Given the description of an element on the screen output the (x, y) to click on. 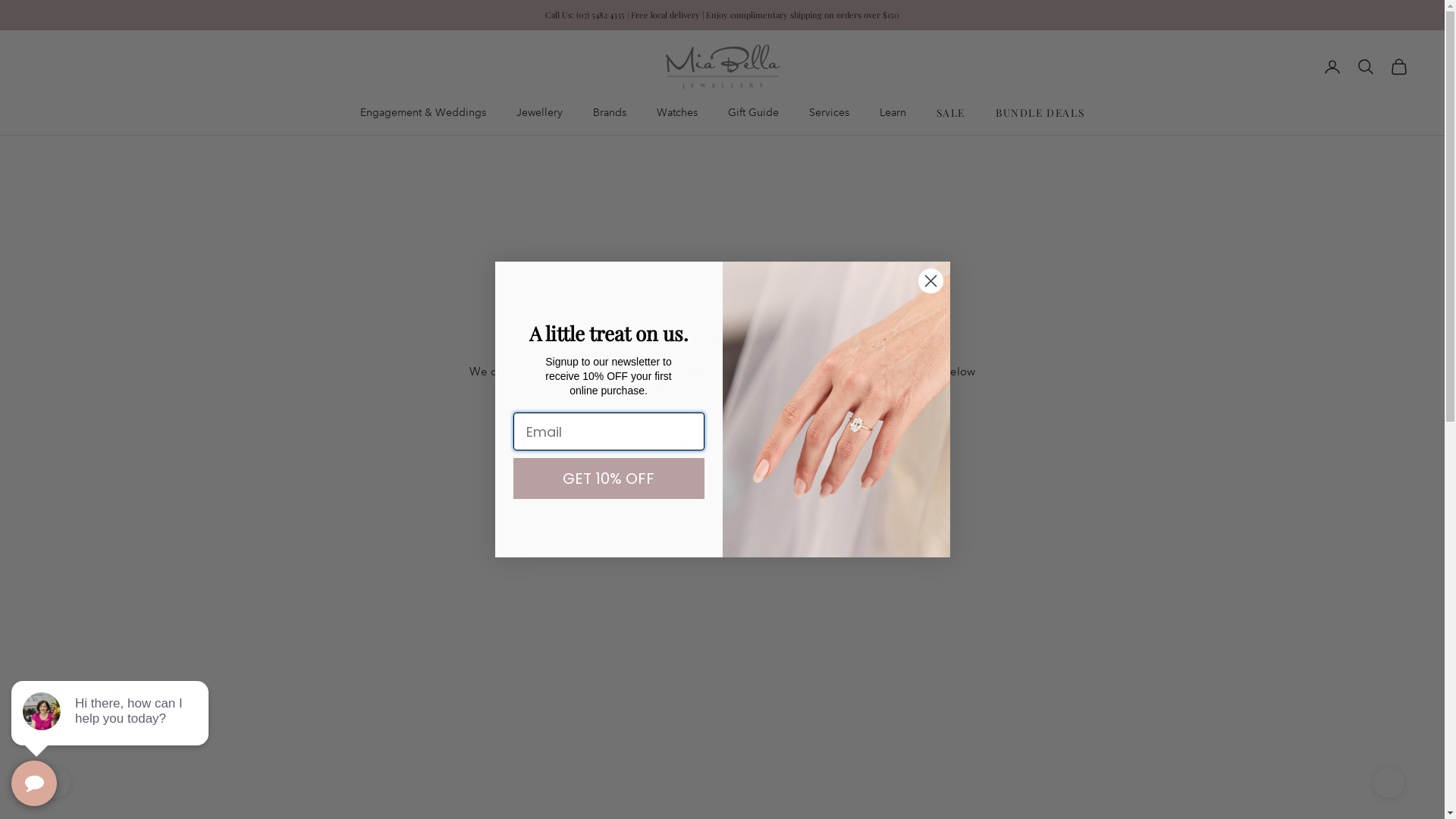
GET 10% OFF Element type: text (607, 478)
Open search Element type: text (1365, 66)
Open account page Element type: text (1332, 66)
Open cart Element type: text (1399, 66)
BUNDLE DEALS Element type: text (1039, 112)
CONTINUE SHOPPING Element type: text (722, 440)
Close dialog 1 Element type: text (930, 280)
Submit Element type: text (19, 7)
SALE Element type: text (950, 112)
Mia Bella Jewellery Element type: text (722, 66)
